Given the description of an element on the screen output the (x, y) to click on. 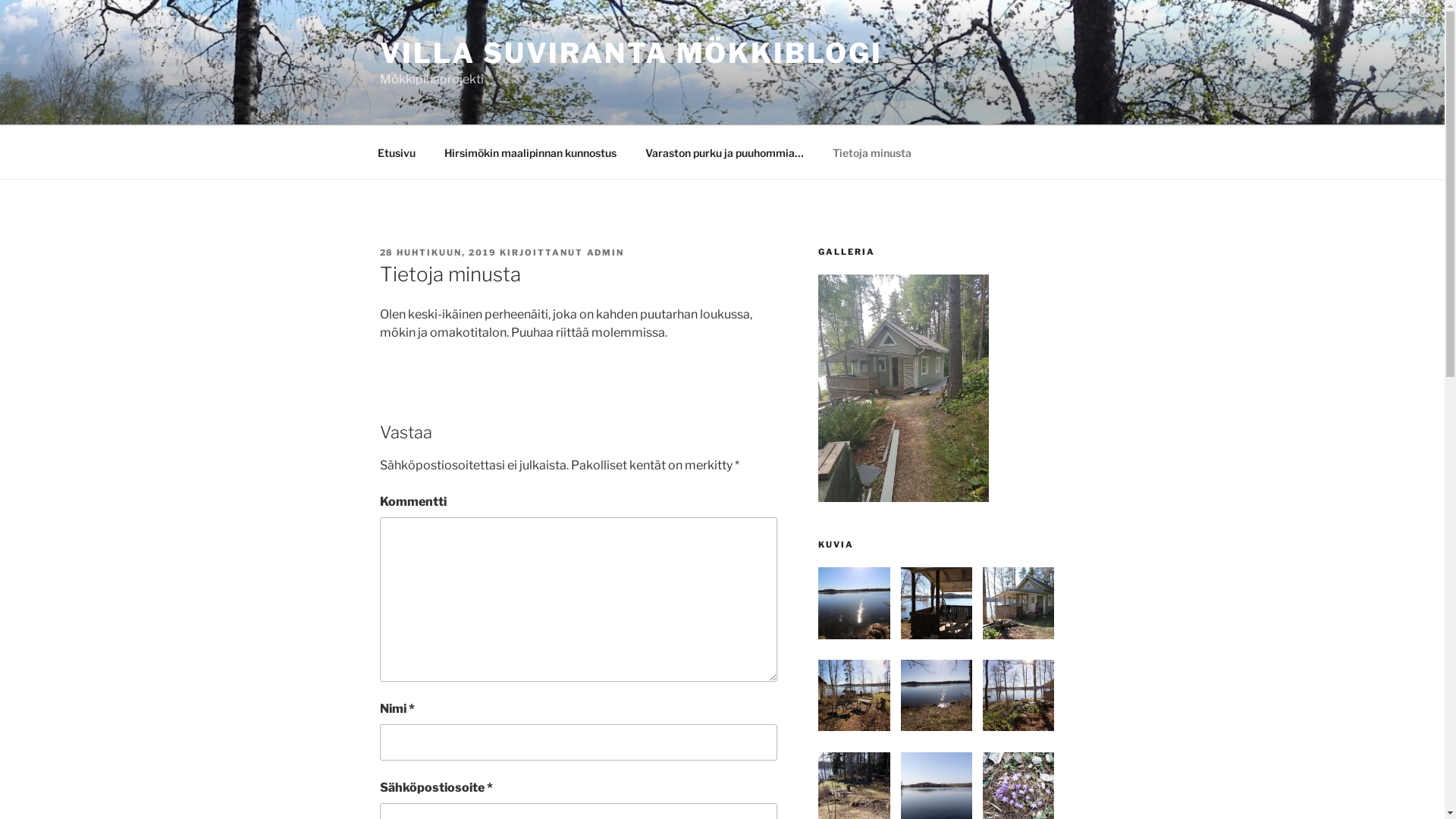
Tietoja minusta Element type: text (871, 151)
Etusivu Element type: text (396, 151)
28 HUHTIKUUN, 2019 Element type: text (437, 252)
ADMIN Element type: text (605, 252)
